Given the description of an element on the screen output the (x, y) to click on. 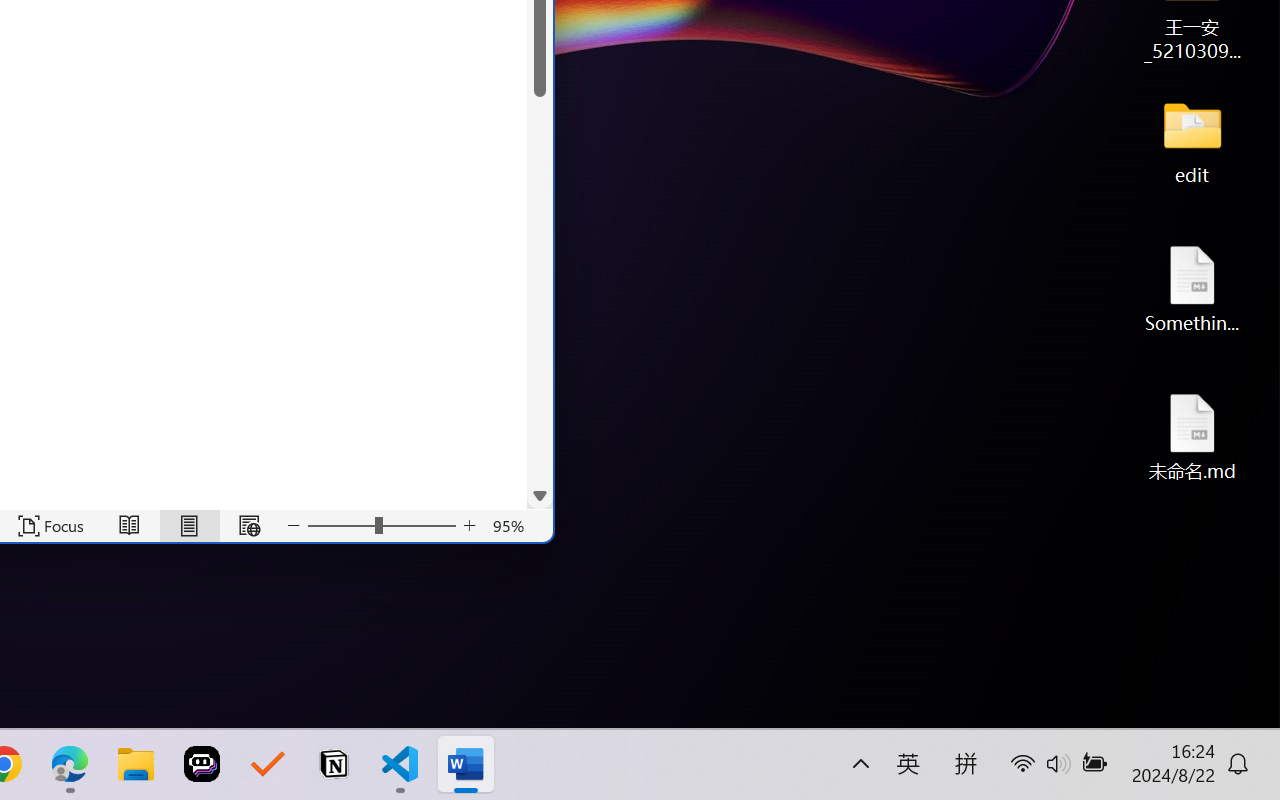
Poe (201, 764)
Page right (461, 495)
Something.md (1192, 288)
edit (1192, 140)
Page down (539, 264)
Zoom 95% (509, 526)
